Given the description of an element on the screen output the (x, y) to click on. 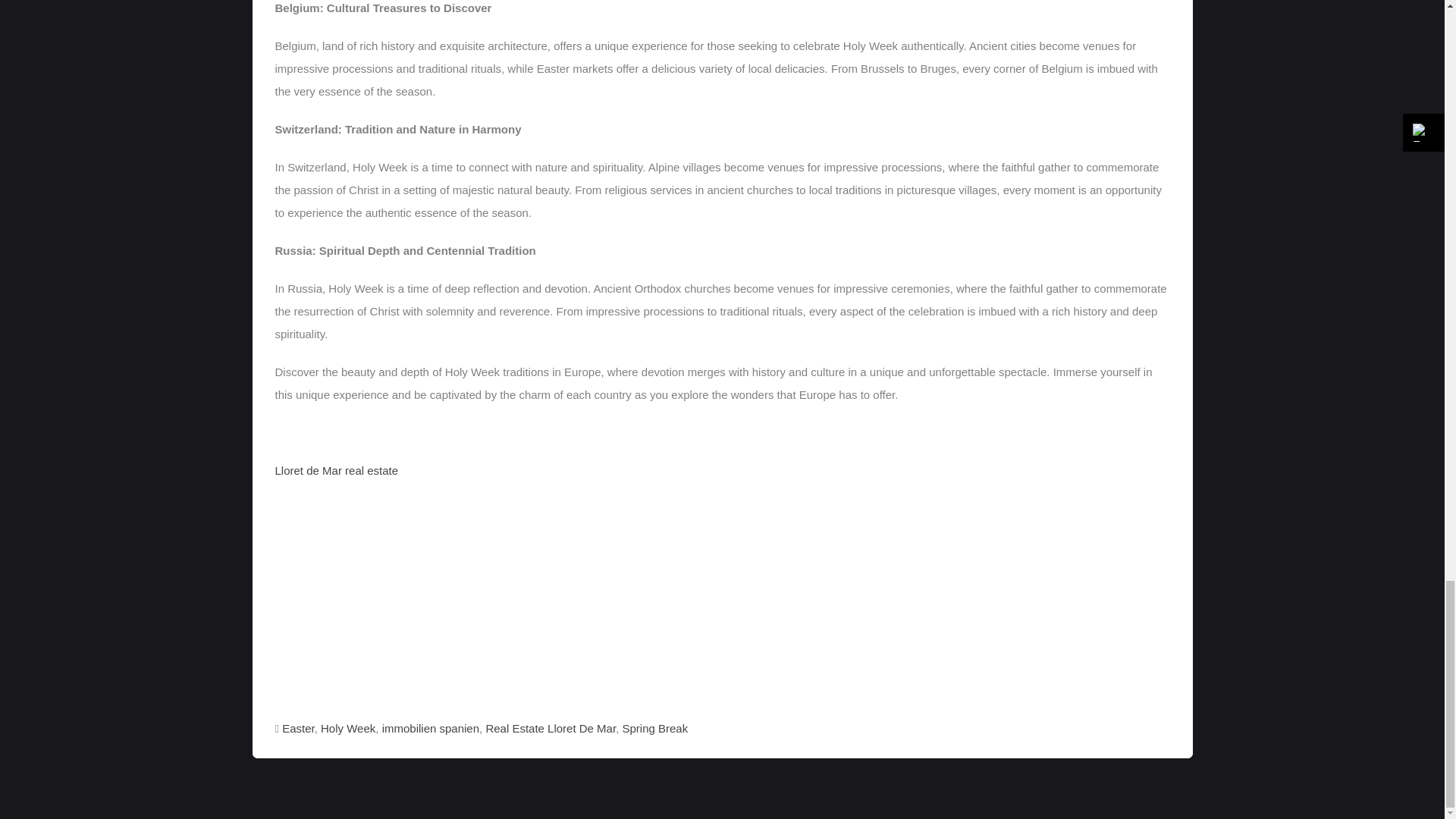
Lloret de Mar real estate (336, 470)
Real Estate Lloret De Mar (549, 727)
Spring Break (654, 727)
immobilien spanien (430, 727)
Easter (298, 727)
Holy Week (347, 727)
